Given the description of an element on the screen output the (x, y) to click on. 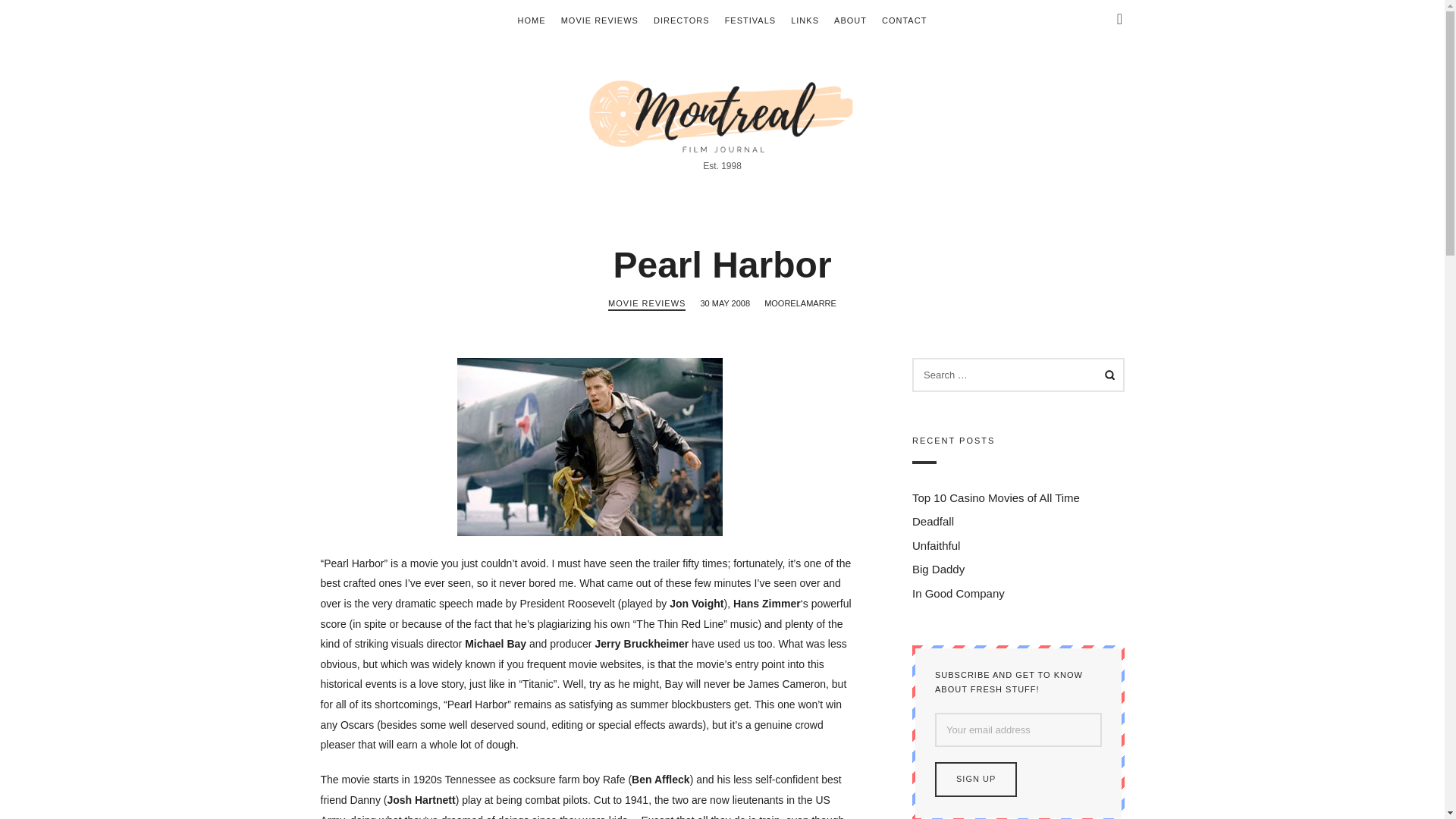
MOVIE REVIEWS (646, 304)
Search (40, 17)
Deadfall (932, 521)
In Good Company (957, 593)
Top 10 Casino Movies of All Time (994, 497)
30 MAY 2008 (724, 302)
Sign up (975, 779)
FESTIVALS (750, 20)
Big Daddy (937, 569)
CONTACT (904, 20)
MOORELAMARRE (799, 302)
Montreal Film Journal (722, 114)
Unfaithful (935, 545)
Sign up (975, 779)
Search (1102, 374)
